Given the description of an element on the screen output the (x, y) to click on. 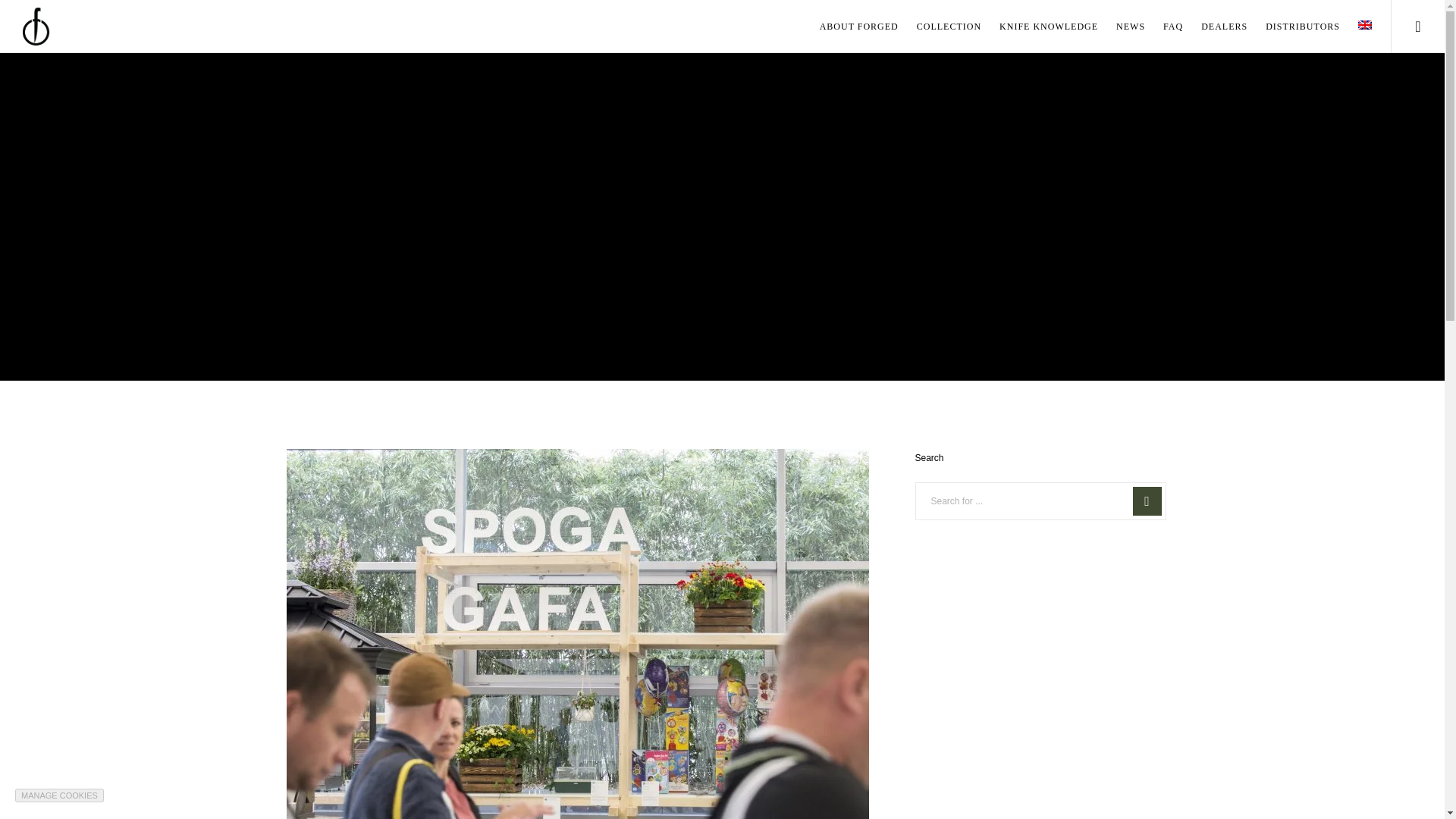
DEALERS (1214, 26)
ABOUT FORGED (850, 26)
DISTRIBUTORS (1293, 26)
COLLECTION (939, 26)
FAQ (1163, 26)
MANAGE COOKIES (58, 795)
NEWS (1120, 26)
KNIFE KNOWLEDGE (1039, 26)
